Given the description of an element on the screen output the (x, y) to click on. 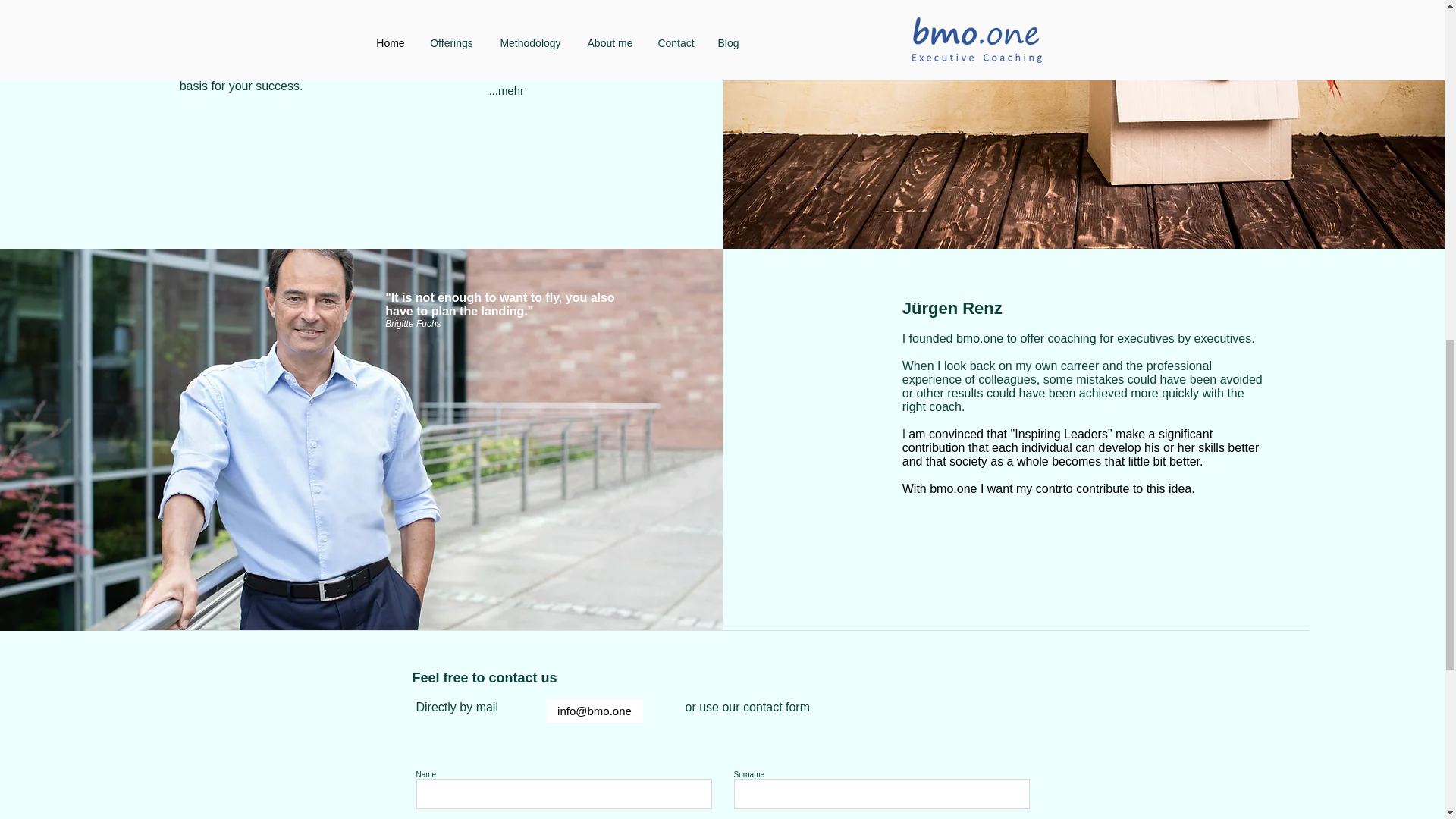
...mehr (506, 15)
...mehr (506, 90)
